Given the description of an element on the screen output the (x, y) to click on. 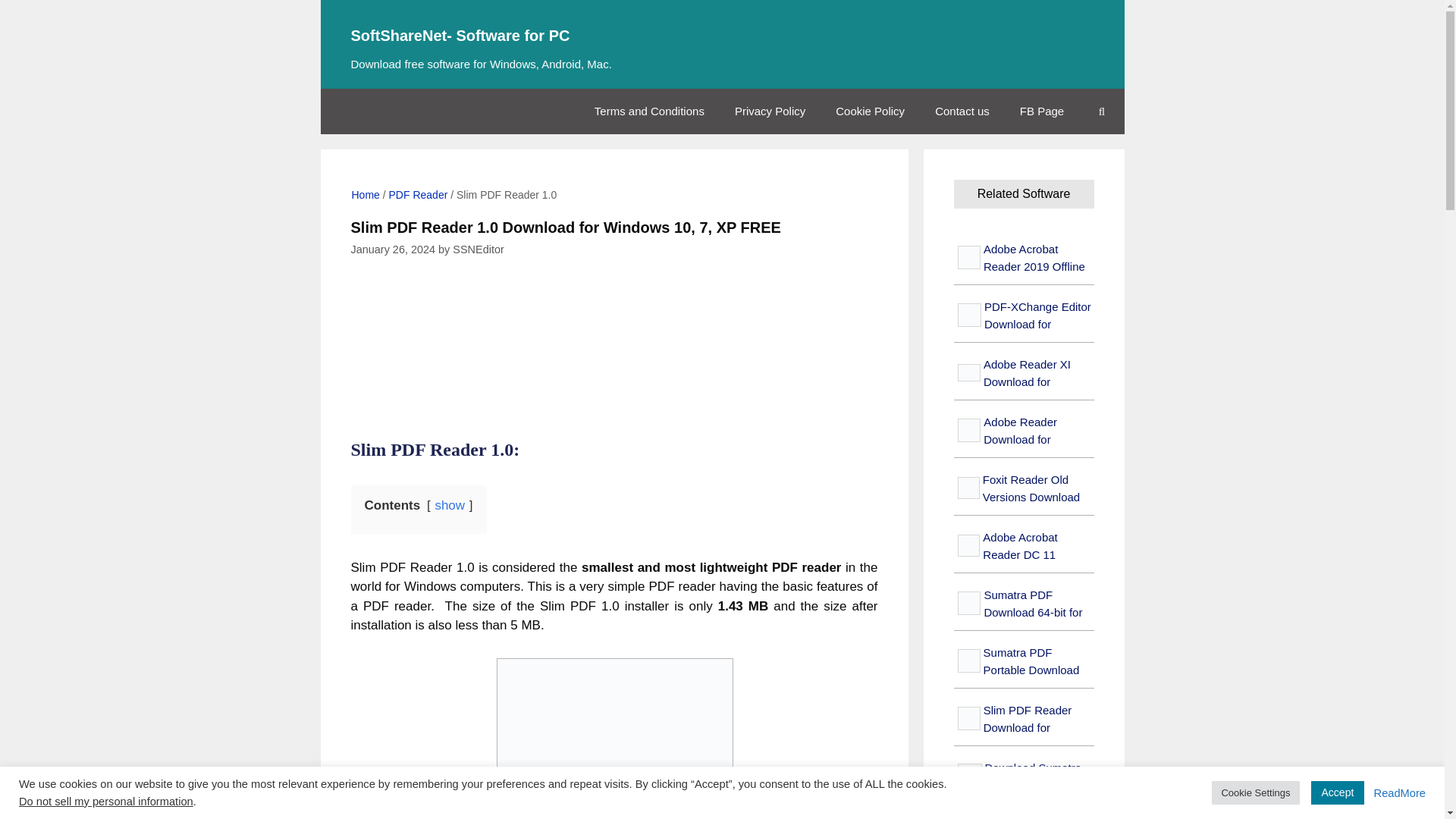
Cookie Policy (870, 110)
Contact us (962, 110)
Terms and Conditions (649, 110)
Slim PDF Reader (614, 738)
FB Page (1041, 110)
SSNEditor (477, 249)
Privacy Policy (770, 110)
View all posts by SSNEditor (477, 249)
SoftShareNet- Software for PC (721, 35)
Advertisement (632, 354)
